Given the description of an element on the screen output the (x, y) to click on. 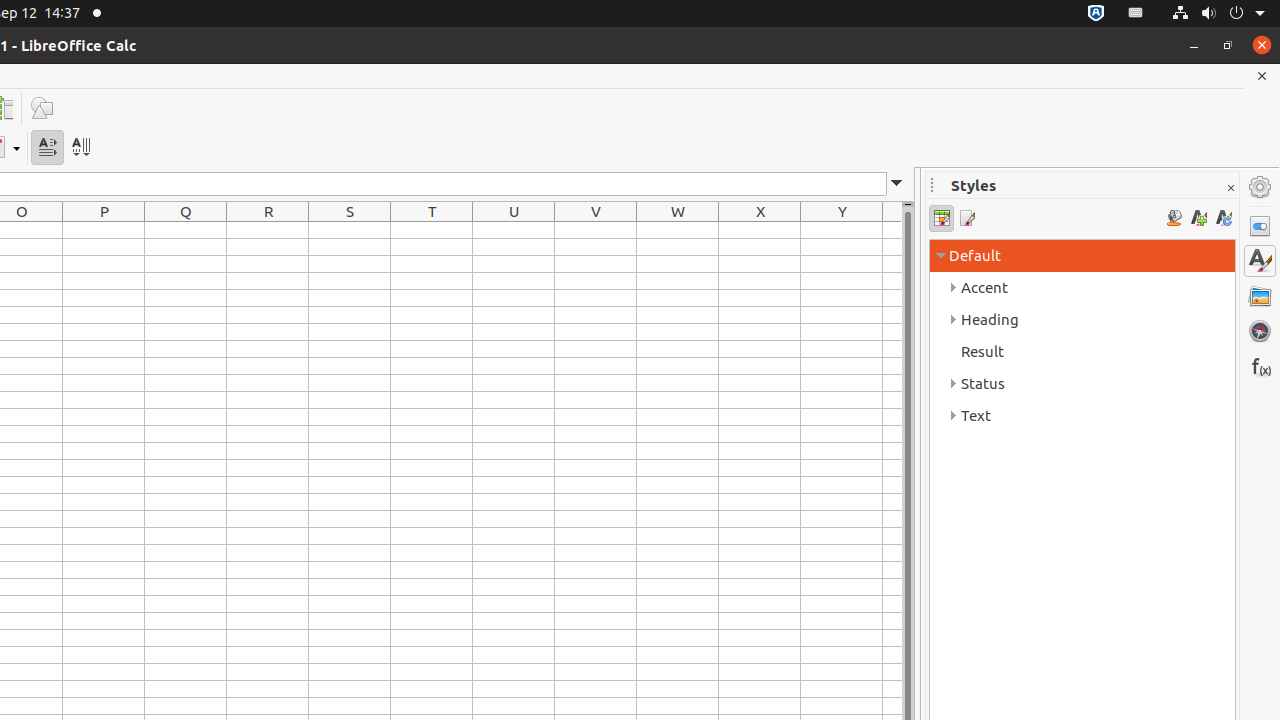
Q1 Element type: table-cell (186, 230)
Navigator Element type: radio-button (1260, 331)
Draw Functions Element type: toggle-button (41, 108)
Cell Styles Element type: push-button (941, 218)
New Style from Selection Element type: push-button (1198, 218)
